Given the description of an element on the screen output the (x, y) to click on. 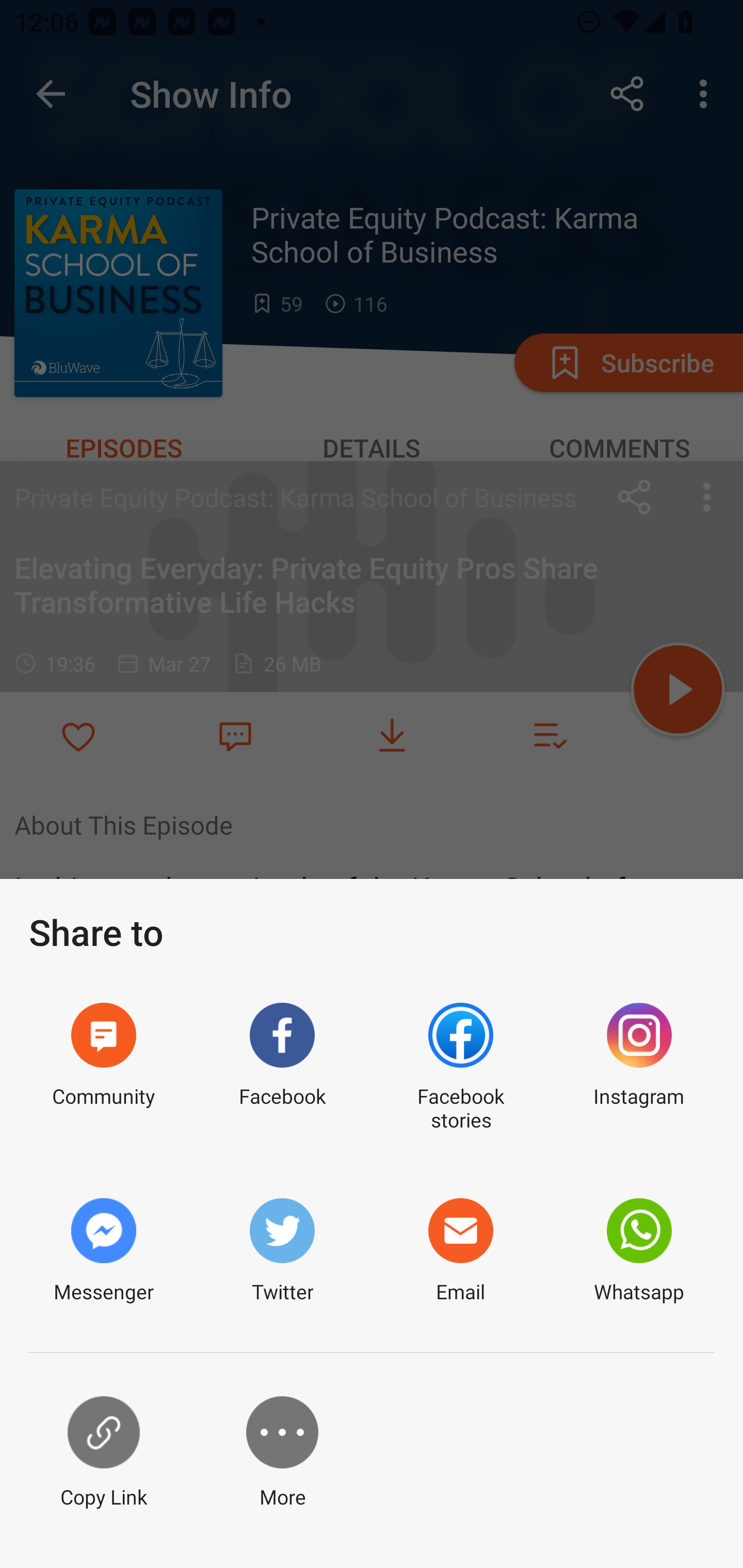
Community (103, 1067)
Facebook (282, 1067)
Facebook stories (460, 1067)
Instagram (638, 1067)
Messenger (103, 1251)
Twitter (282, 1251)
Email (460, 1251)
Whatsapp (638, 1251)
Copy Link (103, 1453)
More (282, 1453)
